Given the description of an element on the screen output the (x, y) to click on. 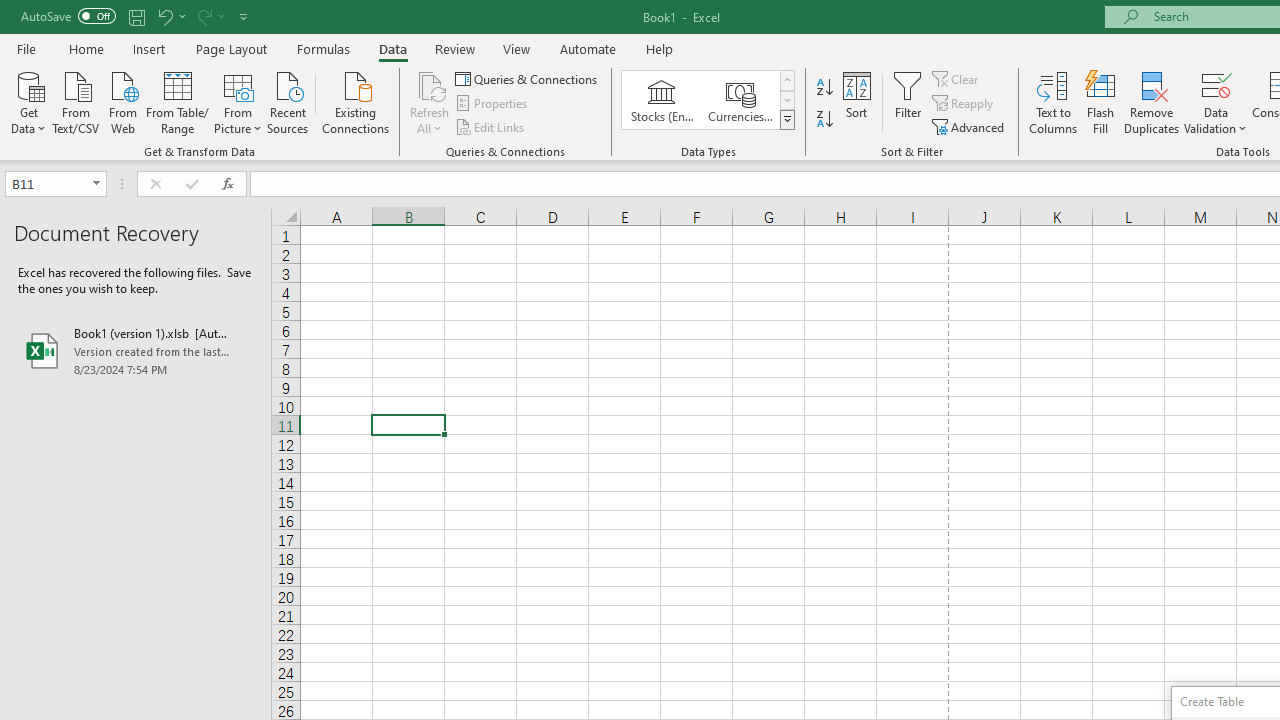
Data Types (786, 120)
Home (86, 48)
Clear (957, 78)
Advanced... (970, 126)
Name Box (46, 183)
Help (660, 48)
Filter (908, 102)
AutomationID: ConvertToLinkedEntity (708, 99)
Data Validation... (1215, 84)
Book1 (version 1).xlsb  [AutoRecovered] (136, 350)
Text to Columns... (1053, 102)
Row Down (786, 100)
Name Box (56, 183)
Stocks (English) (662, 100)
Existing Connections (355, 101)
